Given the description of an element on the screen output the (x, y) to click on. 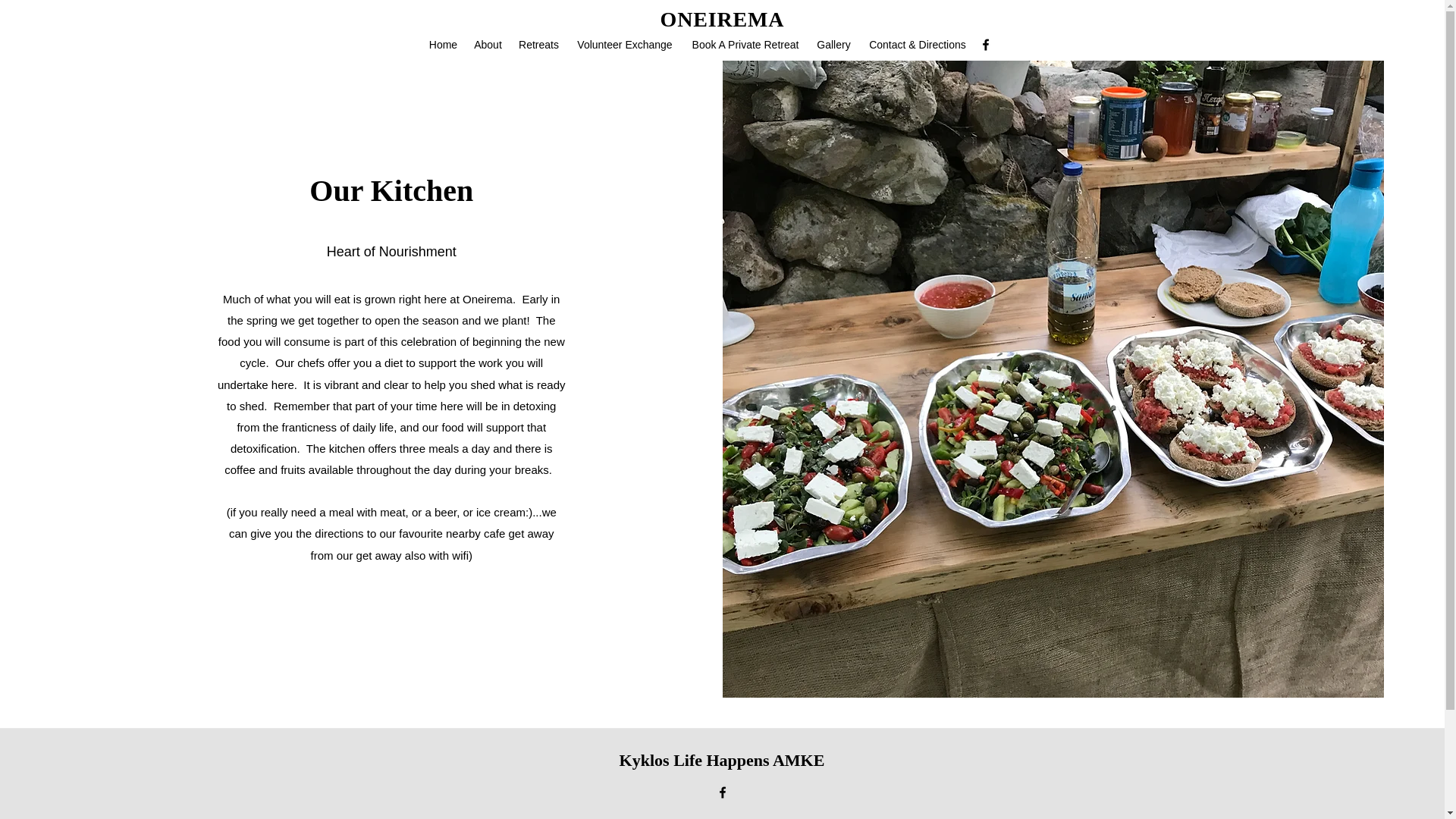
About (488, 44)
Home (442, 44)
Volunteer Exchange (624, 44)
Book A Private Retreat (745, 44)
Retreats (539, 44)
Gallery (833, 44)
